Given the description of an element on the screen output the (x, y) to click on. 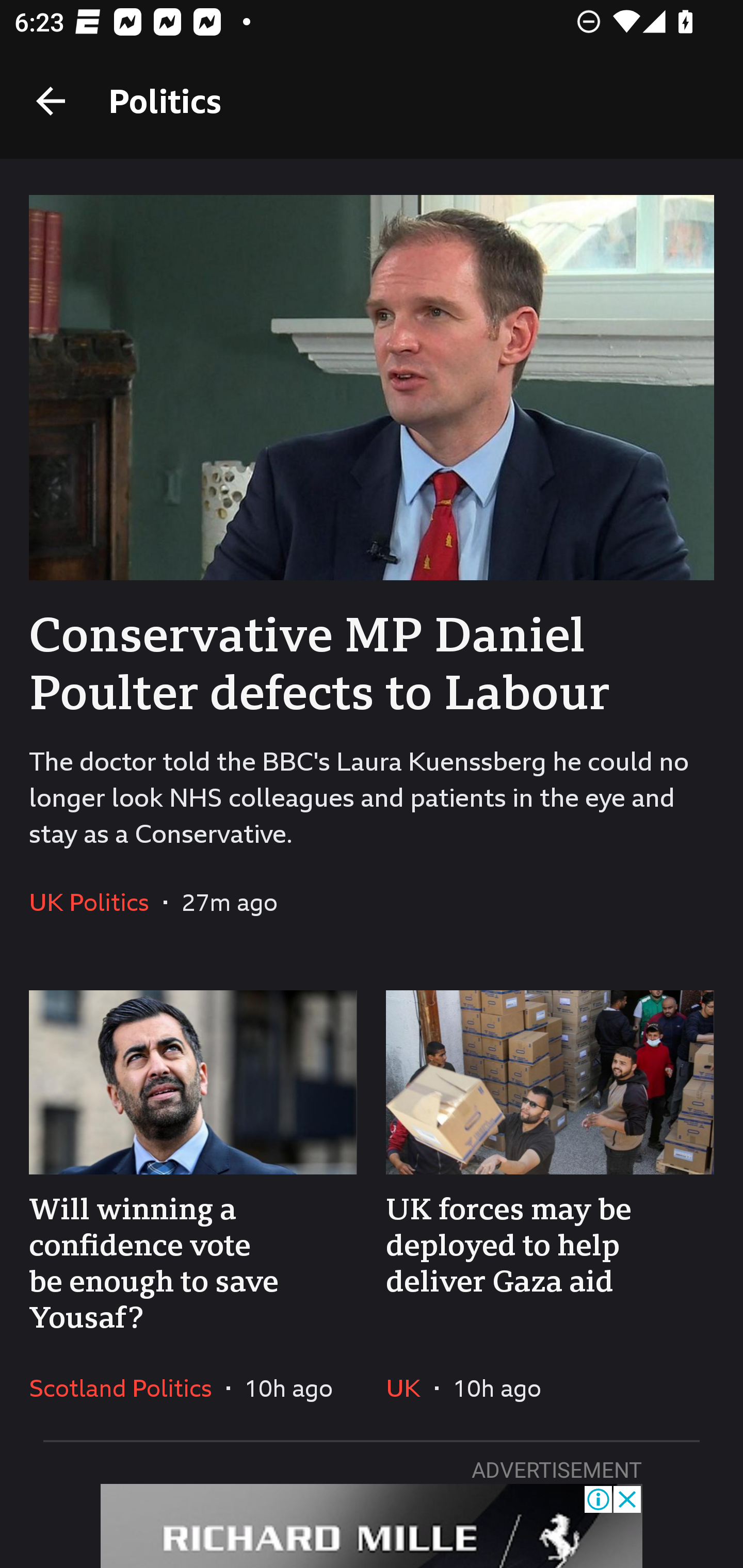
Back (50, 101)
UK Politics In the section UK Politics (95, 901)
Scotland Politics In the section Scotland Politics (127, 1387)
UK In the section UK (409, 1387)
